Given the description of an element on the screen output the (x, y) to click on. 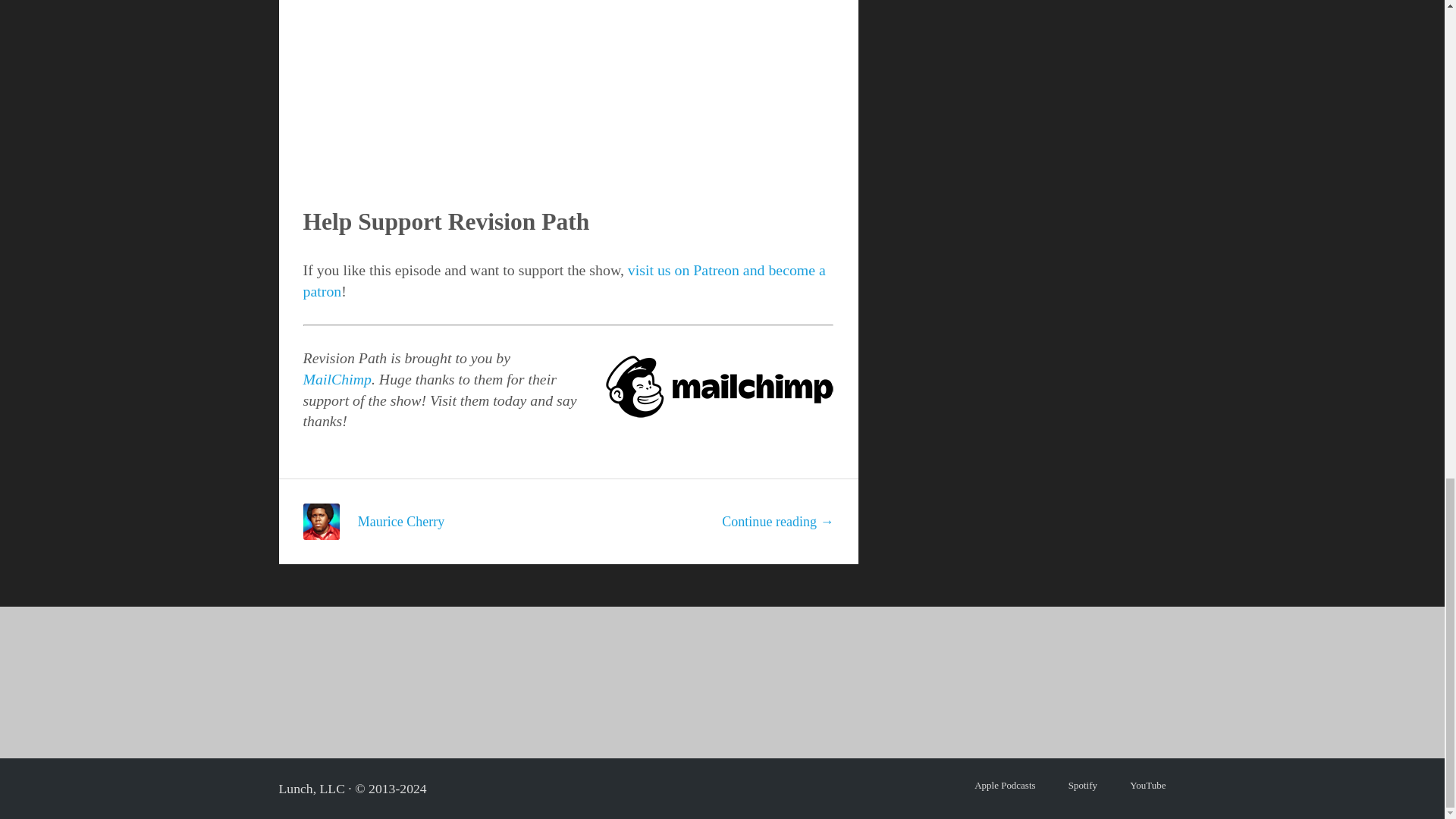
YouTube (1147, 785)
visit us on Patreon and become a patron (563, 280)
Apple Podcasts (1004, 785)
Maurice Cherry (401, 521)
Spotify (1082, 785)
MailChimp (336, 379)
